Given the description of an element on the screen output the (x, y) to click on. 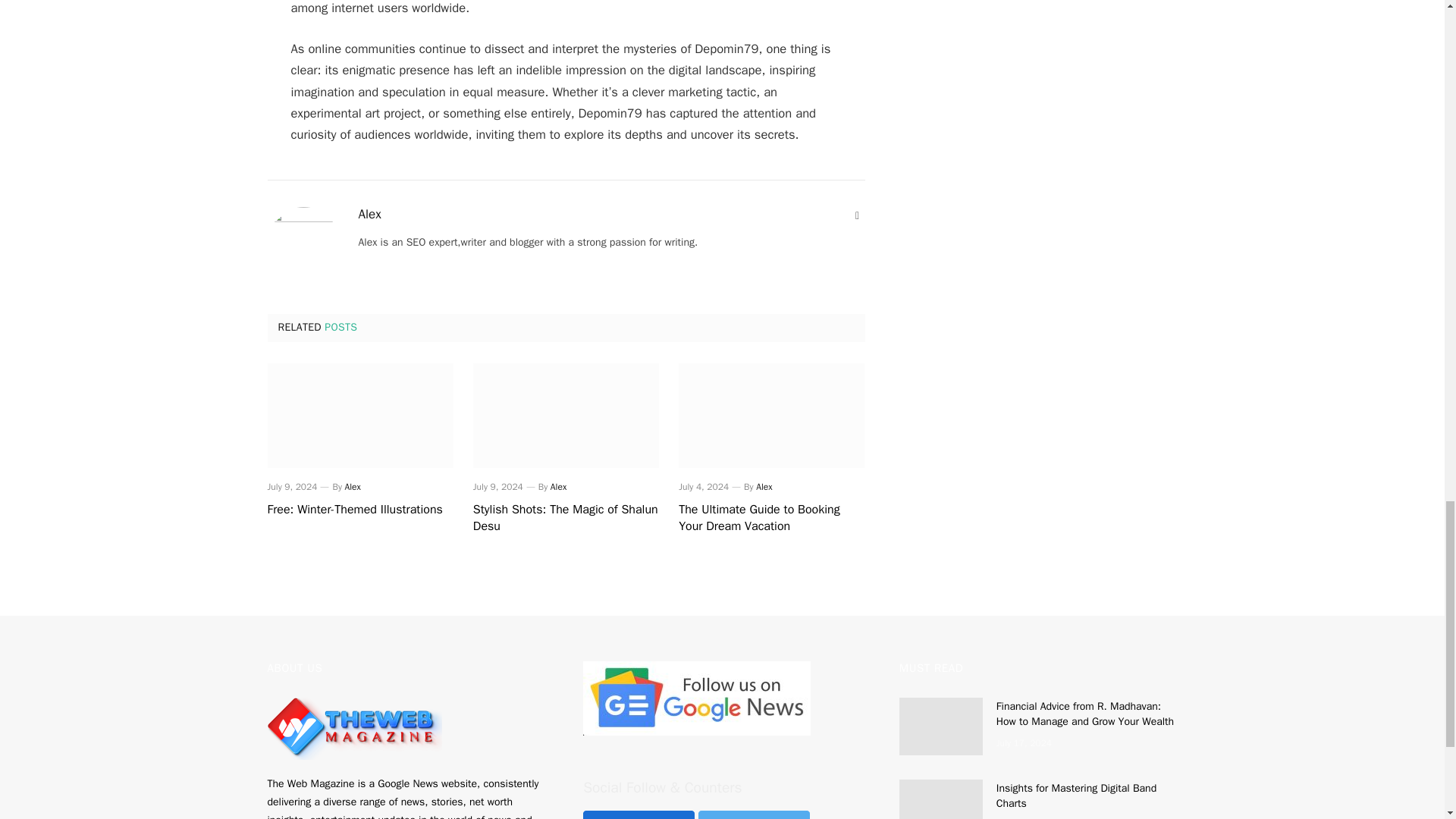
Posts by Alex (353, 486)
Alex (353, 486)
Website (856, 215)
Free: Winter-Themed Illustrations (359, 510)
Posts by Alex (558, 486)
Alex (763, 486)
Alex (369, 214)
Stylish Shots: The Magic of Shalun Desu (566, 415)
The Ultimate Guide to Booking Your Dream Vacation (771, 518)
Posts by Alex (369, 214)
Stylish Shots: The Magic of Shalun Desu (566, 518)
Alex (558, 486)
Free: Winter-Themed Illustrations (359, 415)
Website (856, 215)
